Given the description of an element on the screen output the (x, y) to click on. 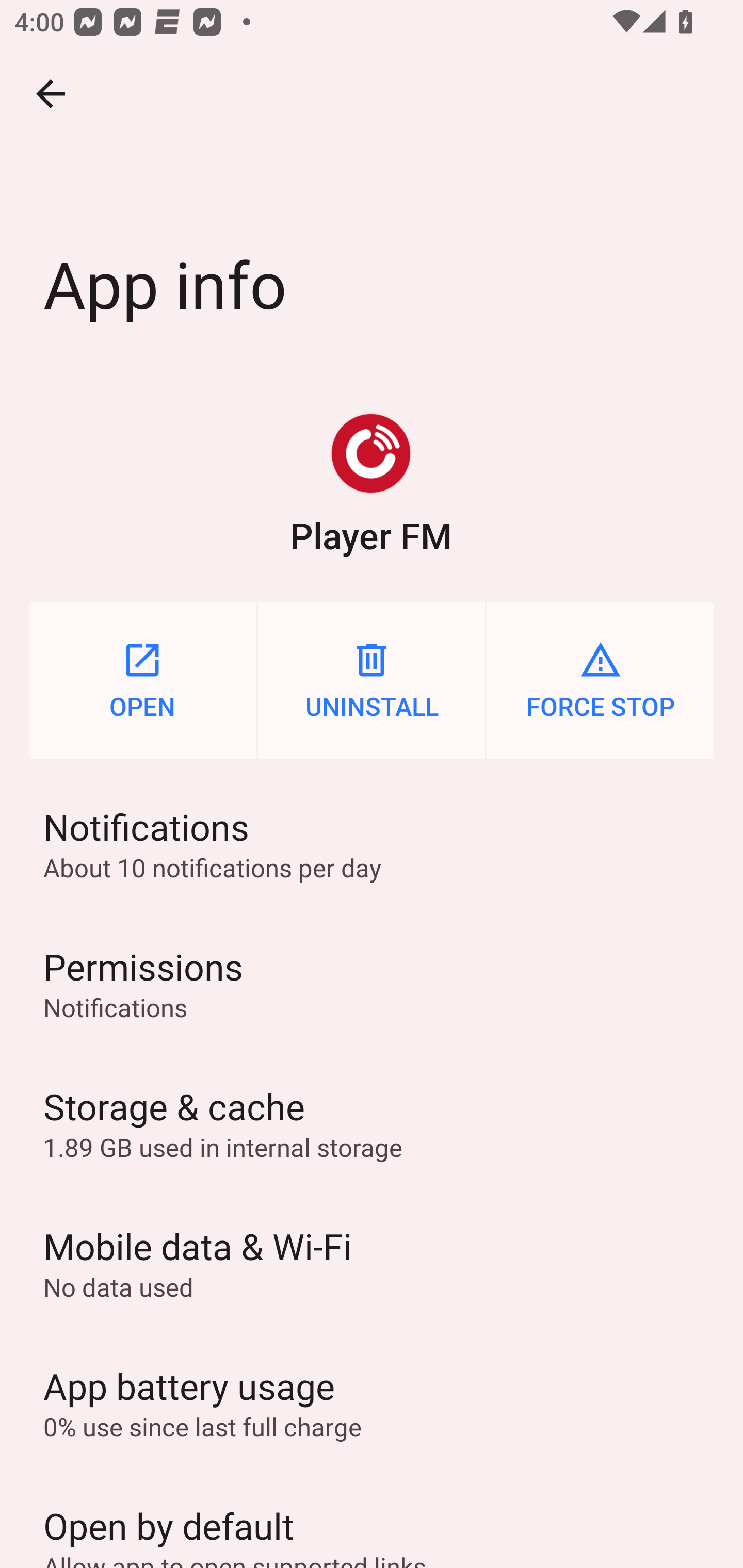
Navigate up (50, 93)
OPEN (141, 680)
UNINSTALL (371, 680)
FORCE STOP (600, 680)
Notifications About 10 notifications per day (371, 843)
Permissions Notifications (371, 983)
Storage & cache 1.89 GB used in internal storage (371, 1123)
Mobile data & Wi‑Fi No data used (371, 1262)
App battery usage 0% use since last full charge (371, 1402)
Open by default Allow app to open supported links (371, 1520)
